Given the description of an element on the screen output the (x, y) to click on. 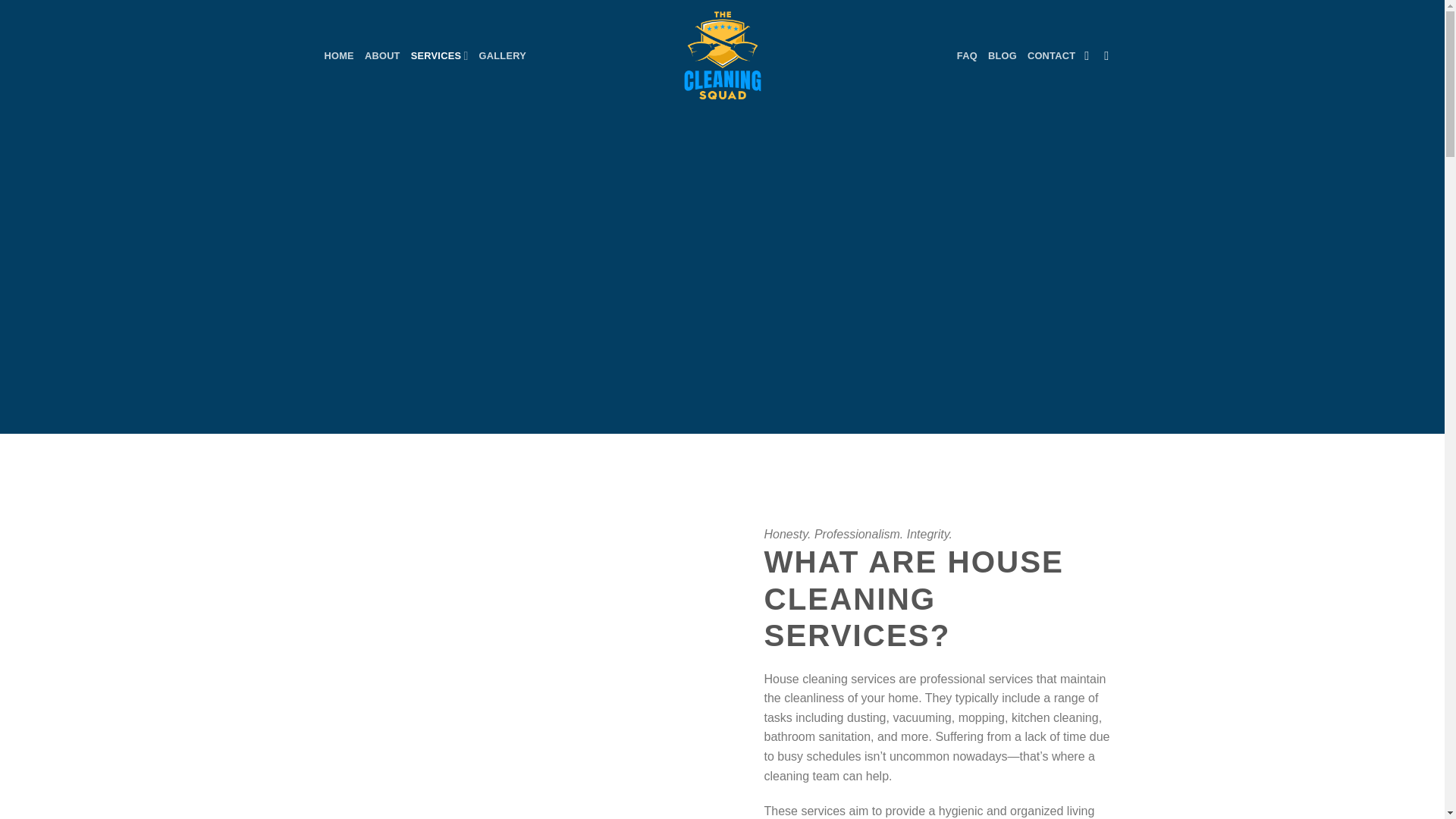
HOME (338, 55)
SERVICES (439, 55)
BLOG (1002, 55)
GALLERY (502, 55)
CONTACT (1051, 55)
ABOUT (382, 55)
Follow on Facebook (1090, 55)
Follow on Instagram (1109, 55)
